Given the description of an element on the screen output the (x, y) to click on. 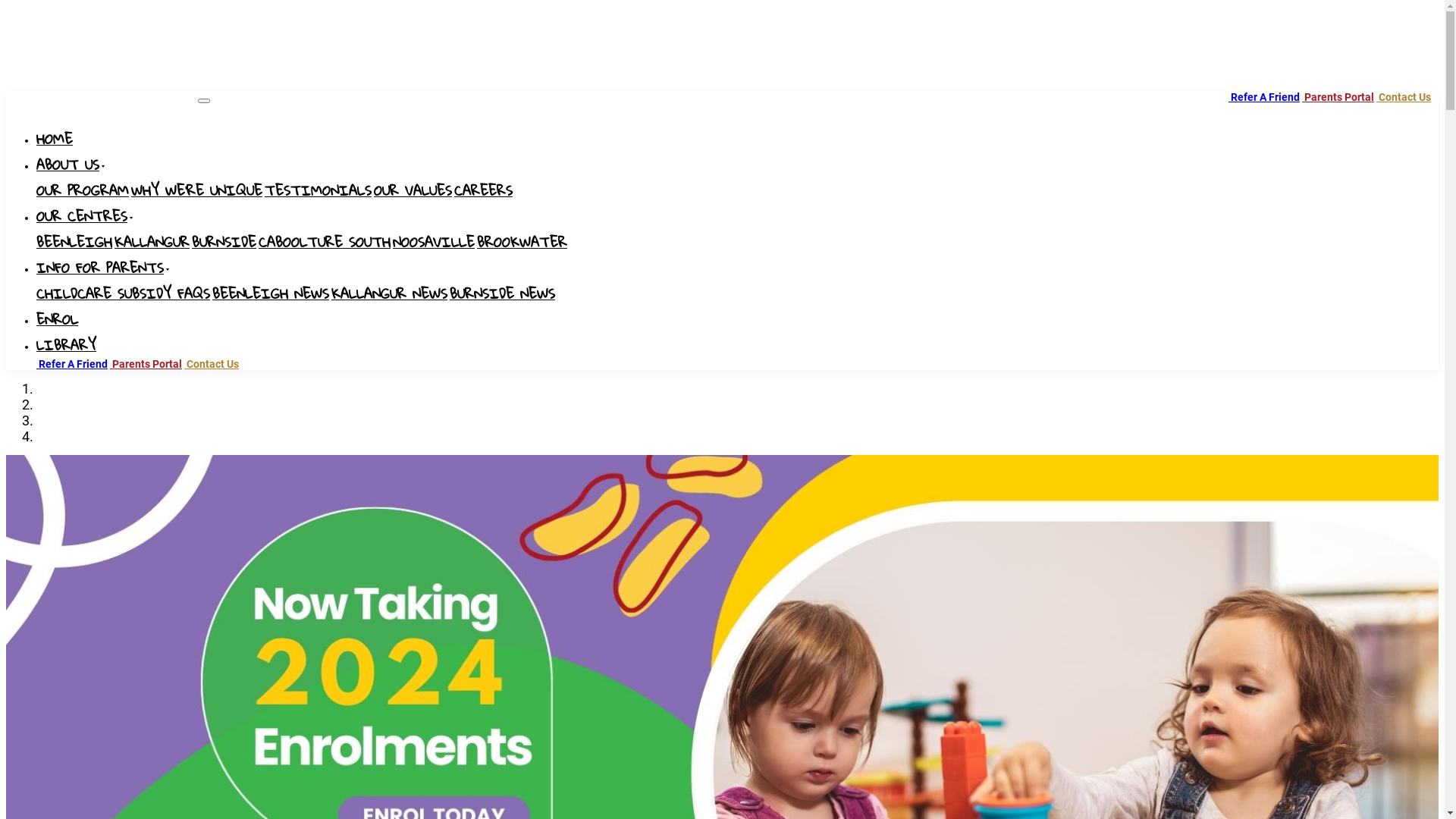
 Contact Us Element type: text (211, 363)
 Refer A Friend Element type: text (71, 363)
BURNSIDE Element type: text (223, 242)
INFO FOR PARENTS Element type: text (102, 268)
 Parents Portal Element type: text (145, 363)
BEENLEIGH Element type: text (74, 242)
OUR PROGRAM Element type: text (82, 191)
WHY WE'RE UNIQUE Element type: text (196, 191)
FAQS Element type: text (193, 294)
 Parents Portal Element type: text (1338, 96)
TESTIMONIALS Element type: text (317, 191)
KALLANGUR NEWS Element type: text (389, 294)
ABOUT US Element type: text (70, 165)
OUR VALUES Element type: text (412, 191)
KALLANGUR Element type: text (151, 242)
 Contact Us Element type: text (1403, 96)
 Refer A Friend Element type: text (1263, 96)
BEENLEIGH NEWS Element type: text (270, 294)
CHILDCARE SUBSIDY Element type: text (106, 294)
CABOOLTURE SOUTH Element type: text (324, 242)
LIBRARY Element type: text (66, 346)
ENROL Element type: text (57, 320)
CAREERS Element type: text (483, 191)
BROOKWATER Element type: text (521, 242)
OUR CENTRES Element type: text (84, 217)
BURNSIDE NEWS Element type: text (502, 294)
NOOSAVILLE Element type: text (433, 242)
HOME Element type: text (54, 139)
